Given the description of an element on the screen output the (x, y) to click on. 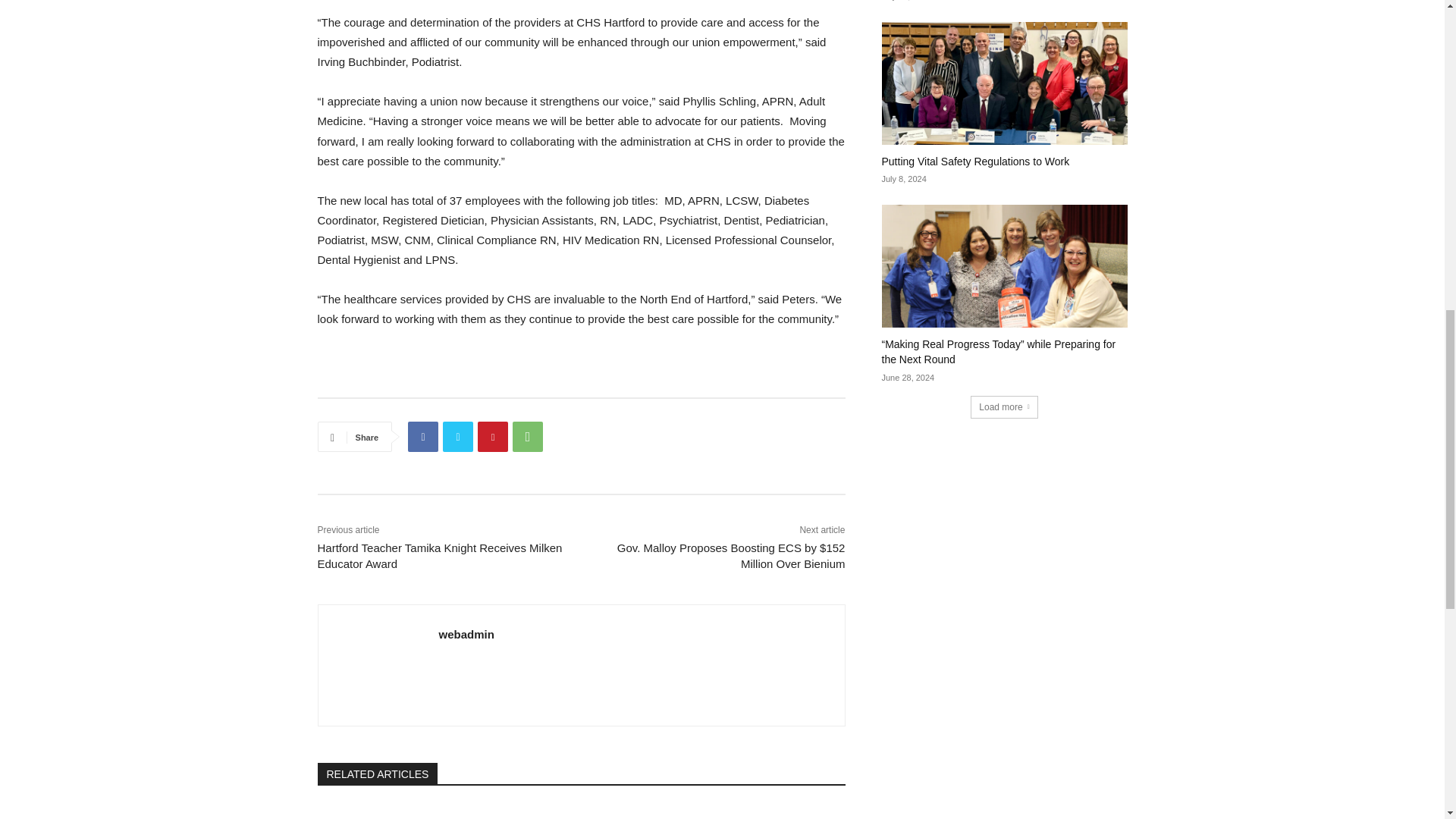
Twitter (457, 436)
Pinterest (492, 436)
Facebook (422, 436)
